Given the description of an element on the screen output the (x, y) to click on. 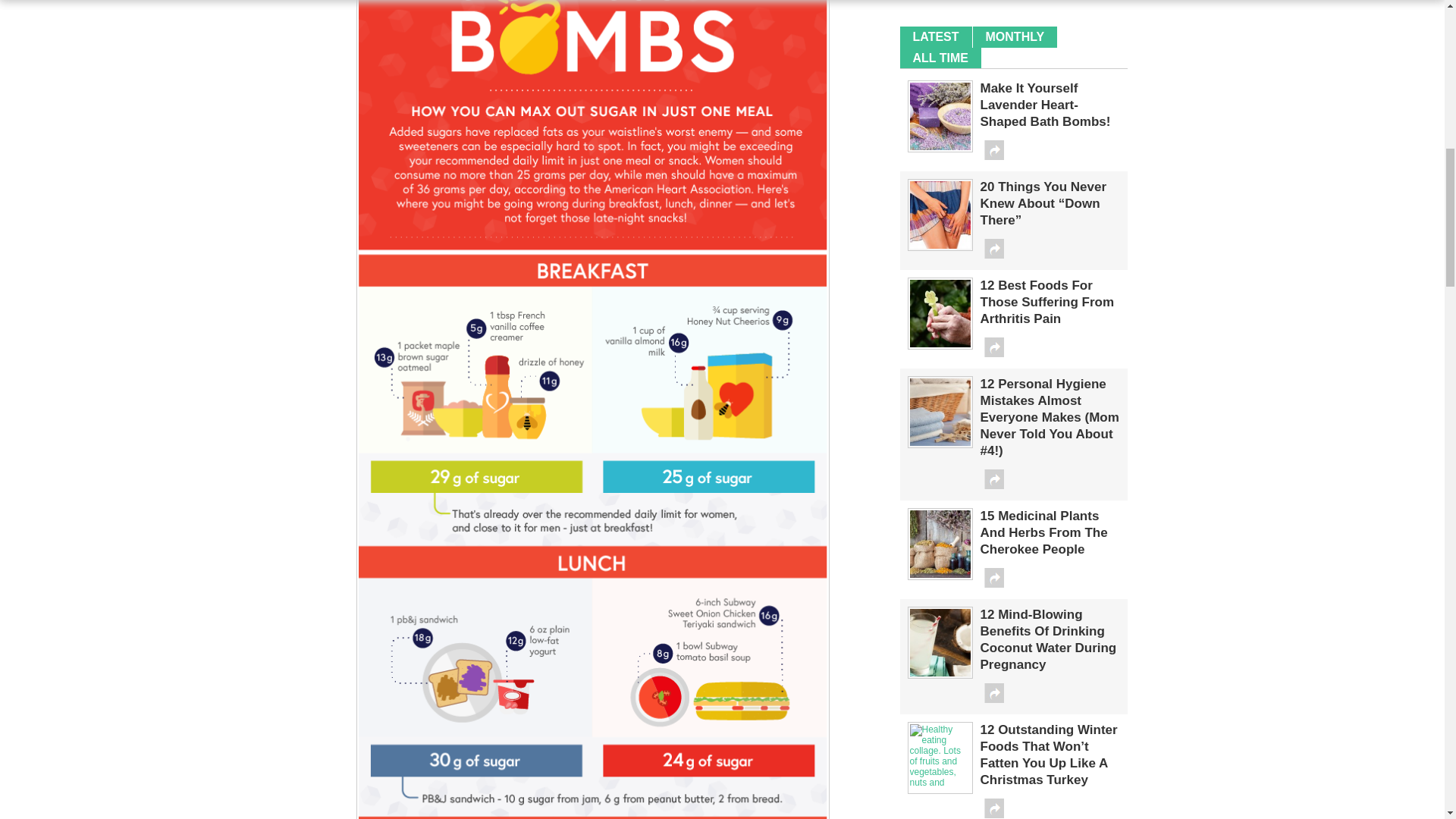
15 Medicinal Plants And Herbs From The Cherokee People (940, 574)
Make It Yourself Lavender Heart-Shaped Bath Bombs! (940, 146)
12 Best Foods For Those Suffering From Arthritis Pain (940, 344)
